Given the description of an element on the screen output the (x, y) to click on. 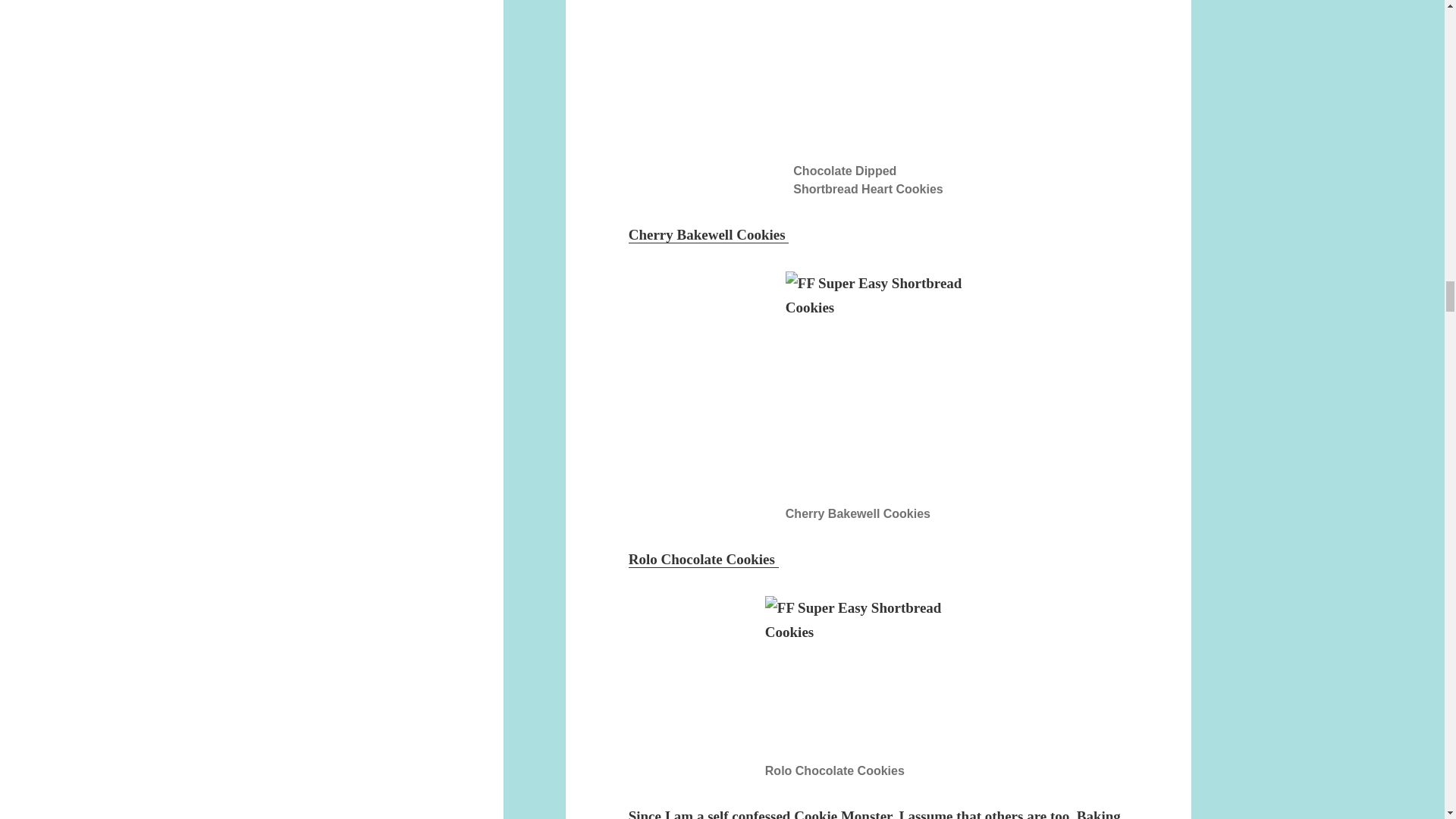
Rolo Chocolate Cookies  (703, 559)
Cherry Bakewell Cookies  (708, 234)
